Given the description of an element on the screen output the (x, y) to click on. 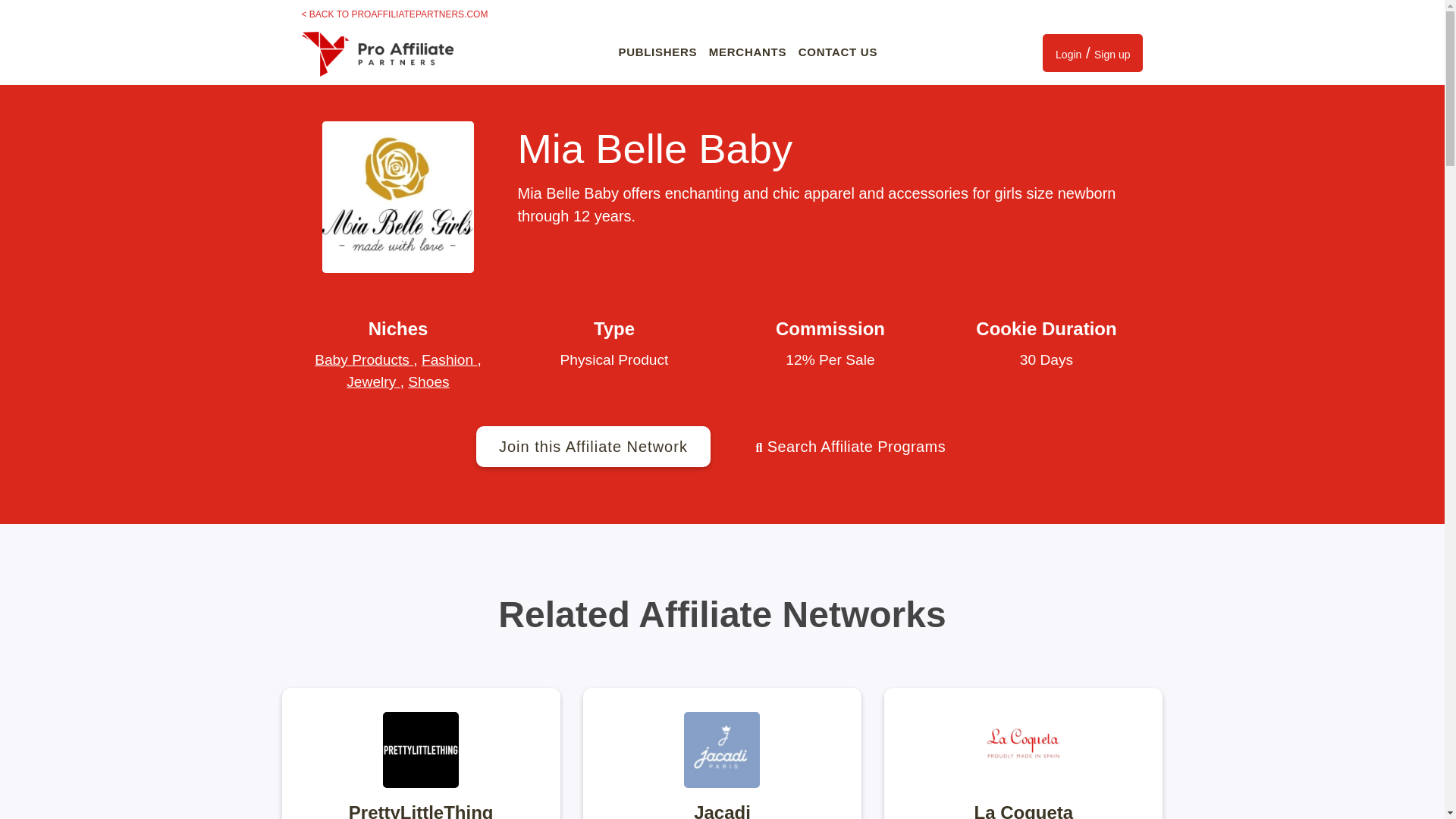
Jewelry (372, 381)
AP Partners (376, 51)
Baby Products (363, 359)
MERCHANTS (747, 52)
CONTACT US (837, 52)
Join this Affiliate Network (593, 445)
Fashion (449, 359)
Search Affiliate Programs (850, 446)
Login (1068, 54)
Shoes (427, 381)
PUBLISHERS (657, 52)
Sign up (1111, 54)
